Given the description of an element on the screen output the (x, y) to click on. 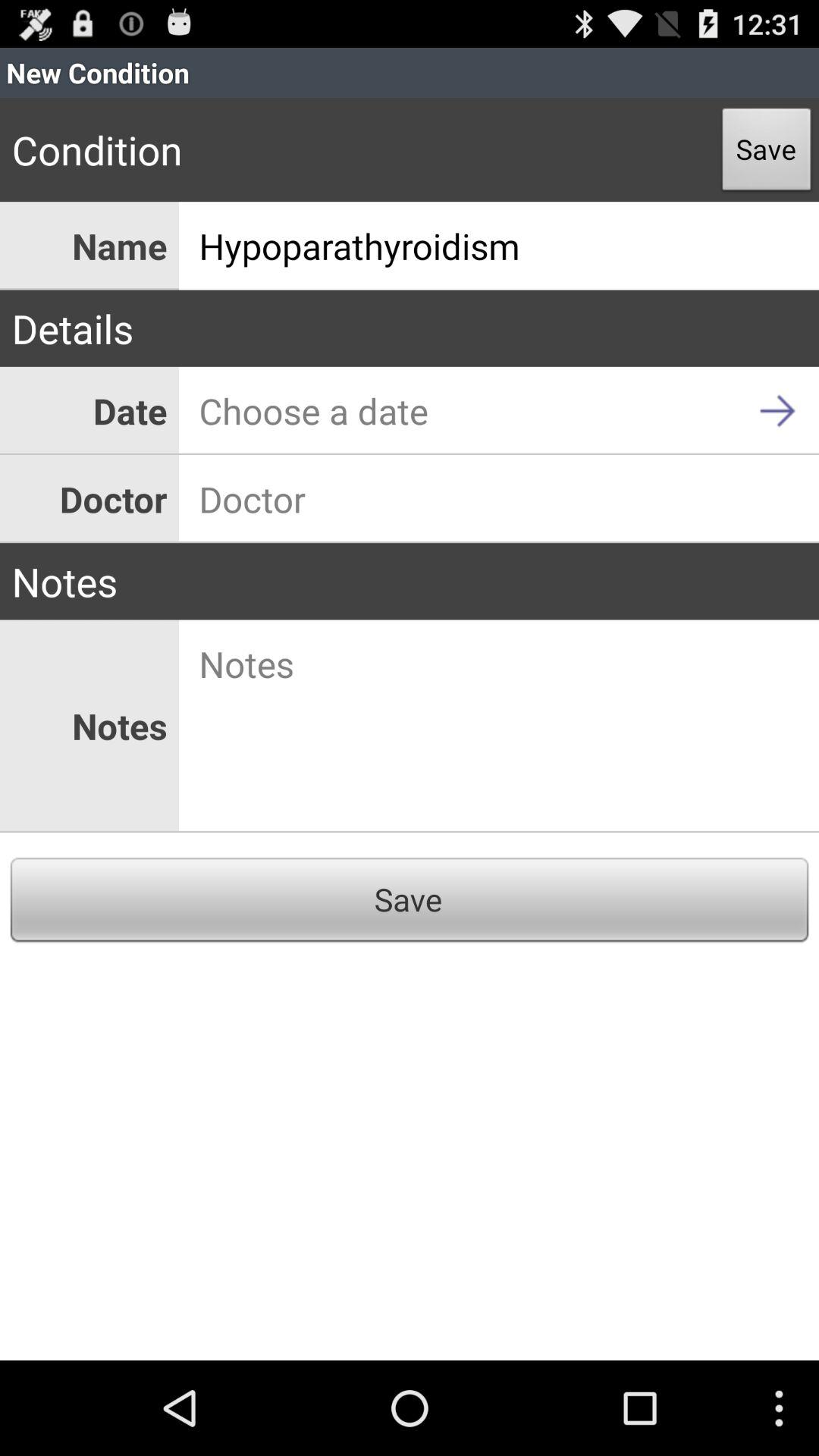
press the icon to the right of date icon (499, 410)
